Given the description of an element on the screen output the (x, y) to click on. 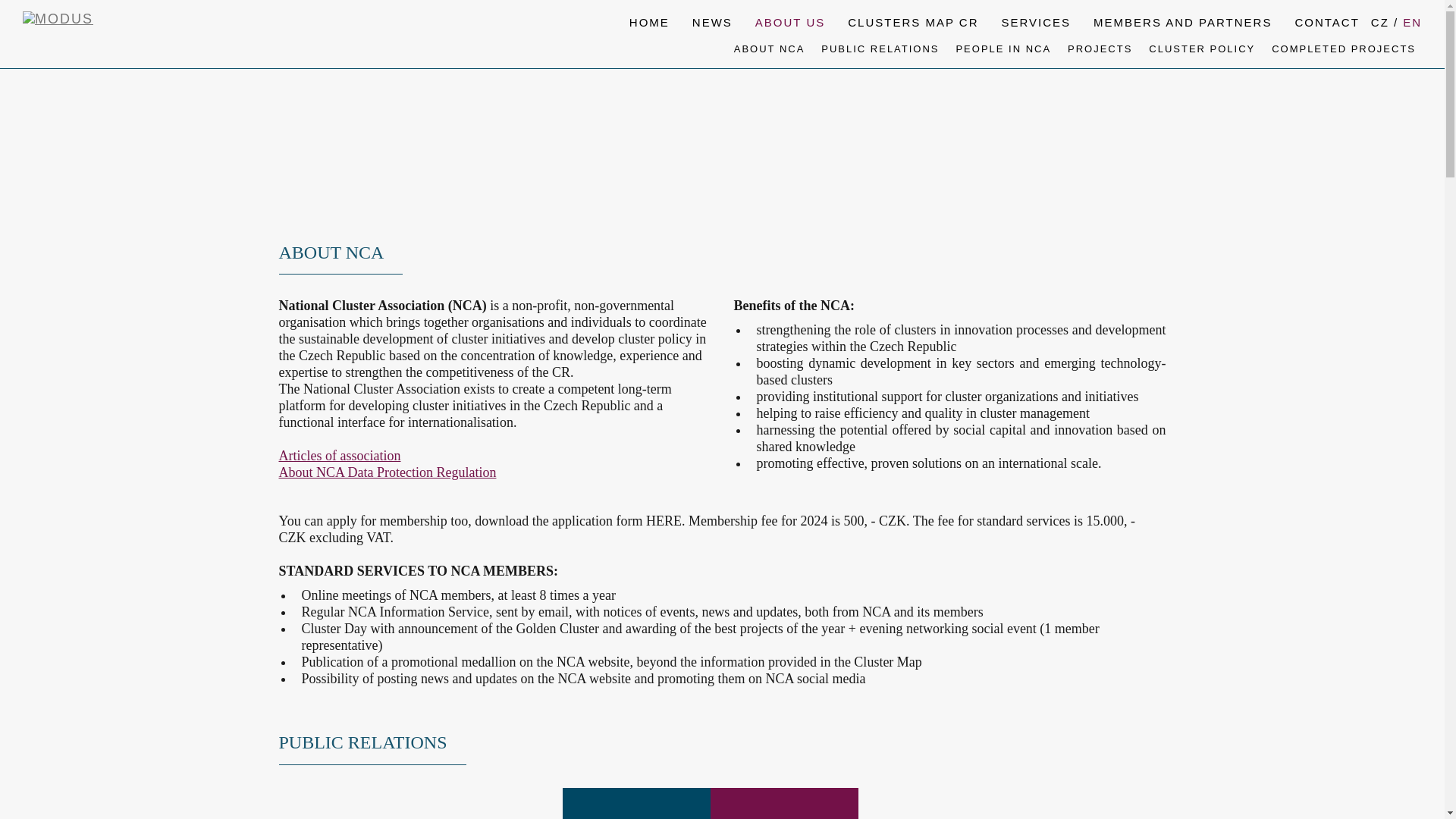
CLUSTER POLICY (1201, 48)
MEMBERS AND PARTNERS (1181, 28)
PEOPLE IN NCA (1003, 48)
SERVICES (1036, 28)
Stanovy NCA 2020 (340, 455)
CLUSTERS MAP CR (912, 28)
PROJECTS (1099, 48)
CONTACT (1326, 28)
EN (1411, 22)
Articles of association (340, 455)
HOME (649, 28)
PUBLIC RELATIONS (880, 48)
ABOUT NCA (769, 48)
About NCA Data Protection Regulation (387, 472)
COMPLETED PROJECTS (1343, 48)
